Given the description of an element on the screen output the (x, y) to click on. 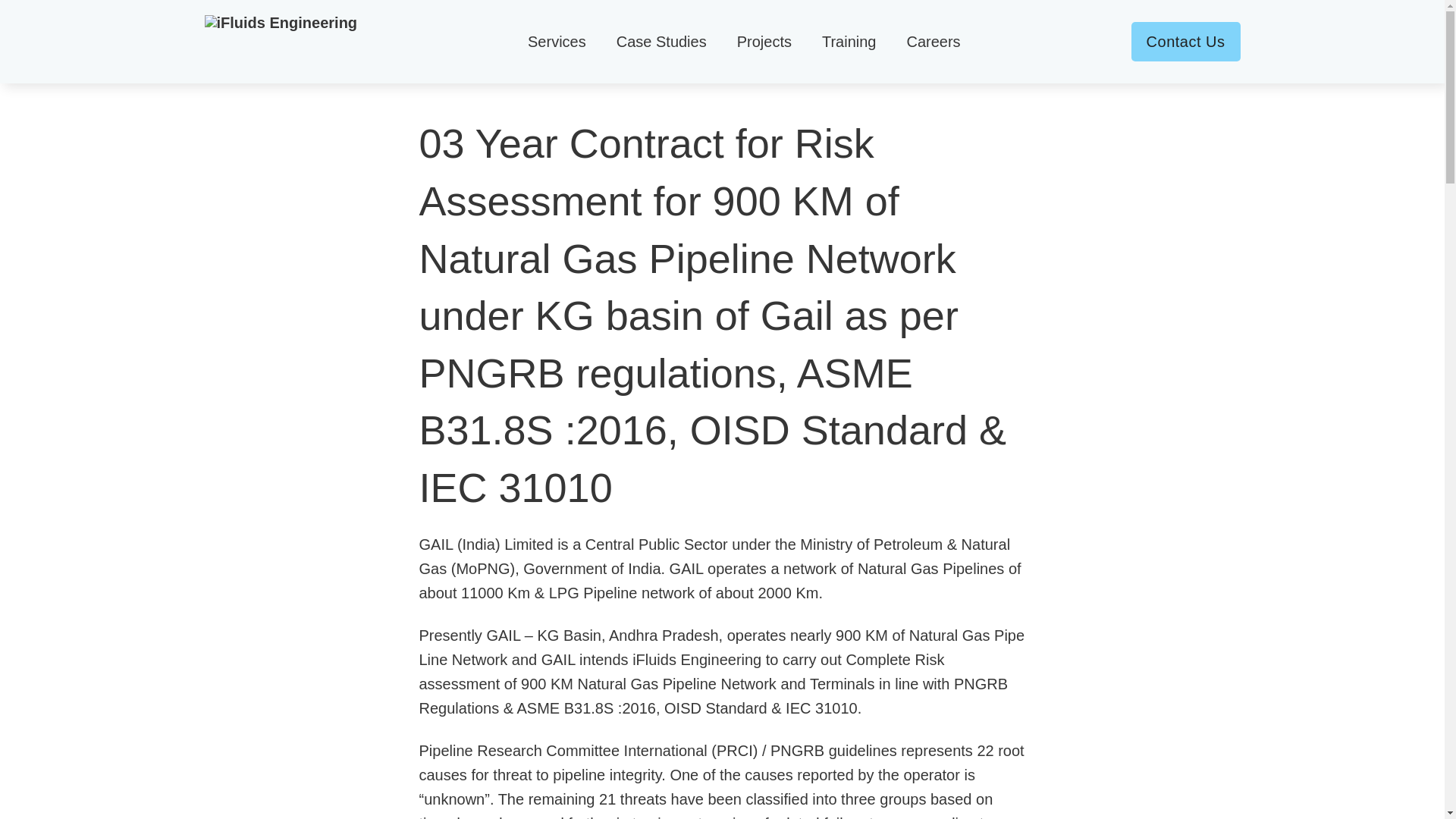
Careers (932, 41)
Services (556, 41)
Training (849, 41)
Case Studies (660, 41)
Contact Us (1185, 41)
Projects (764, 41)
